Given the description of an element on the screen output the (x, y) to click on. 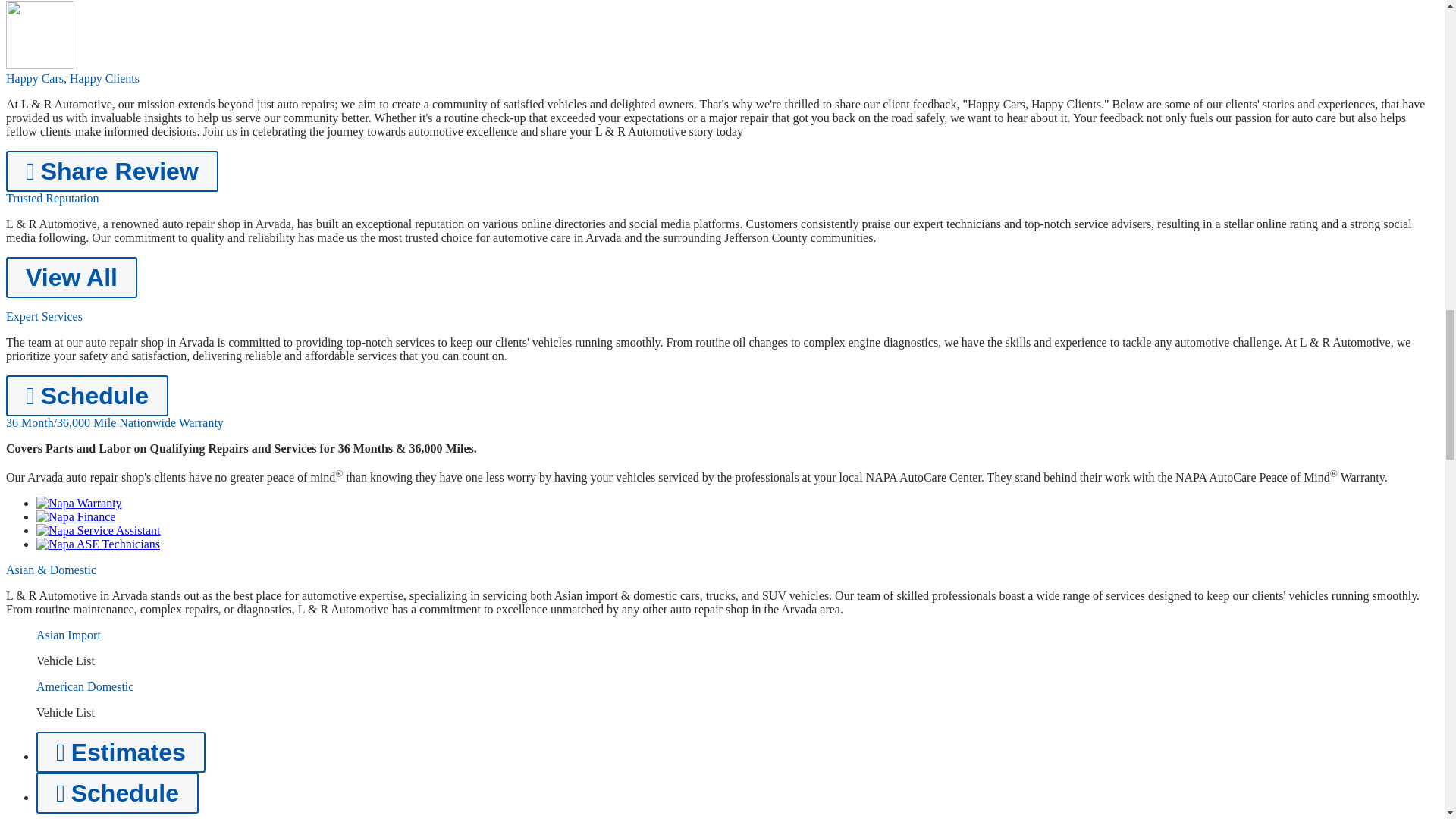
ASE Mechanics (98, 543)
Napa Service Assistant (98, 530)
Great Auto Repair Financing (75, 516)
Napa Warranty (79, 502)
